Given the description of an element on the screen output the (x, y) to click on. 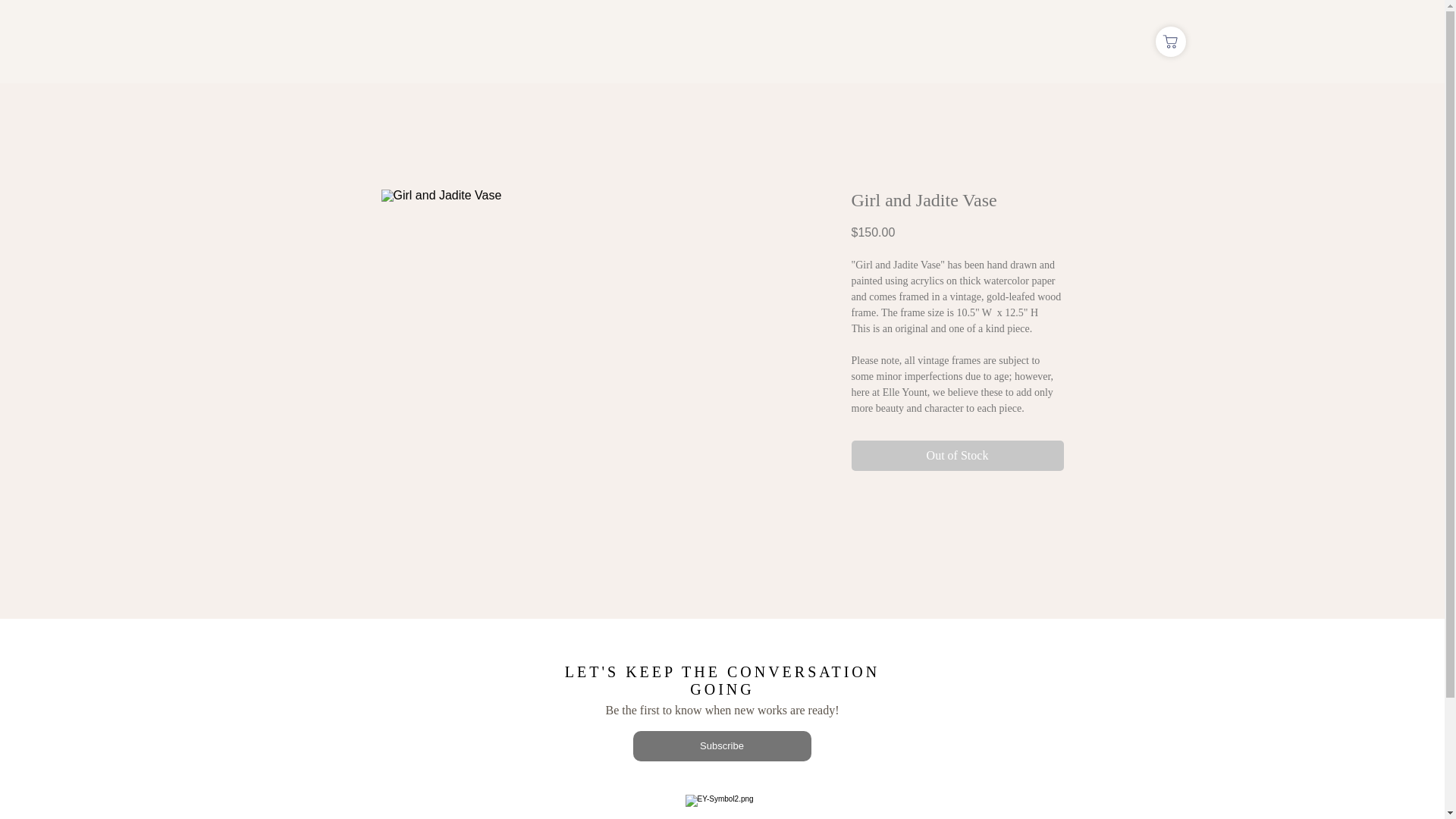
Out of Stock (956, 455)
Subscribe (720, 746)
